Given the description of an element on the screen output the (x, y) to click on. 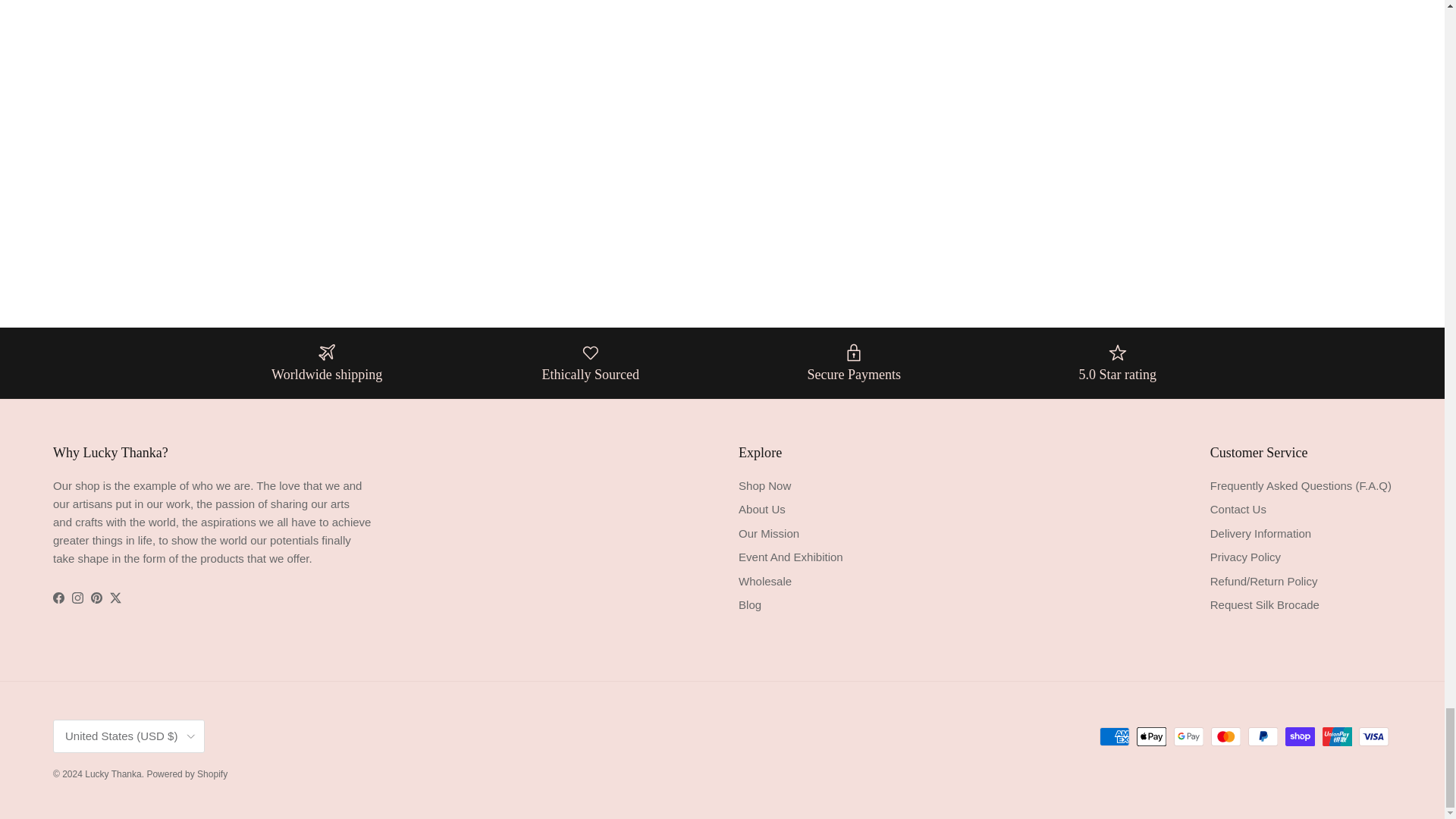
Lucky Thanka on Pinterest (95, 597)
Lucky Thanka on Instagram (76, 597)
Lucky Thanka on Twitter (115, 597)
Lucky Thanka on Facebook (58, 597)
